Given the description of an element on the screen output the (x, y) to click on. 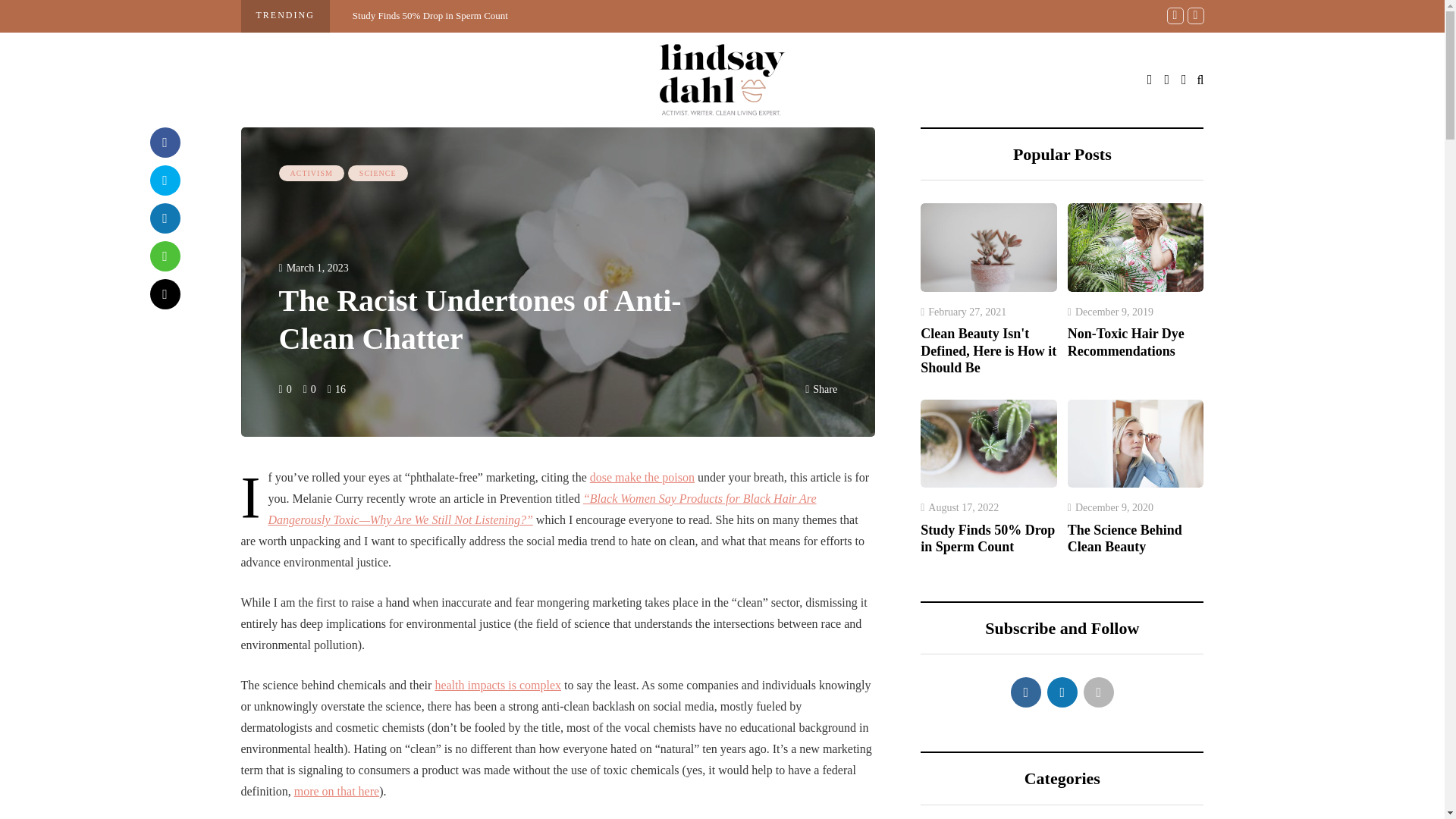
health impacts is complex (496, 684)
ACTIVISM (311, 173)
Tweet this (164, 180)
Share with LinkedIn (164, 218)
Share by Email (164, 294)
Share to WhatsApp (164, 255)
dose make the poison (641, 477)
SCIENCE (377, 173)
Share with Facebook (164, 142)
more on that here (336, 790)
